Given the description of an element on the screen output the (x, y) to click on. 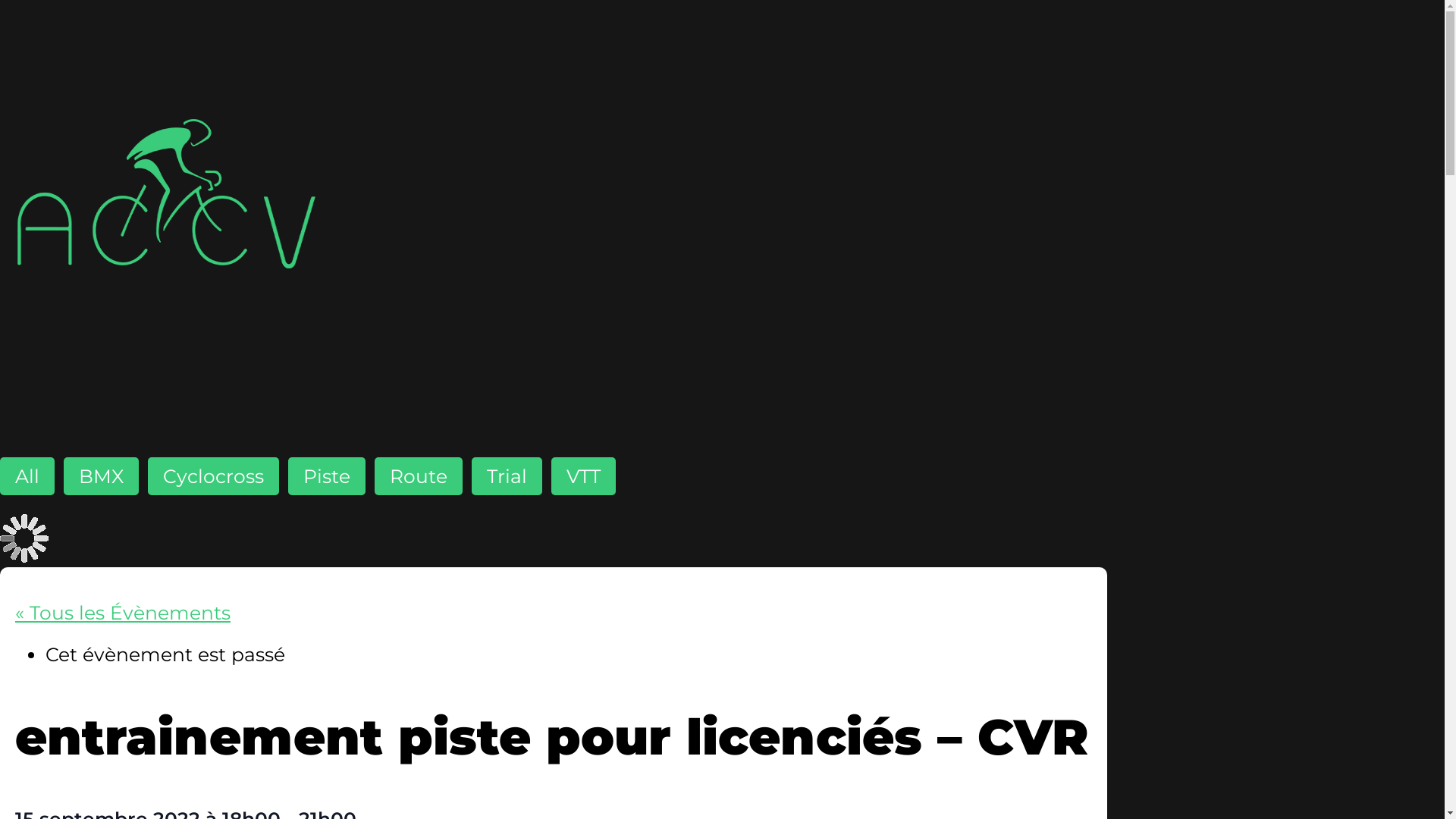
Piste Element type: text (326, 475)
VTT Element type: text (583, 475)
BMX Element type: text (100, 475)
Route Element type: text (418, 475)
Trial Element type: text (506, 475)
All Element type: text (27, 475)
Cyclocross Element type: text (213, 475)
